Given the description of an element on the screen output the (x, y) to click on. 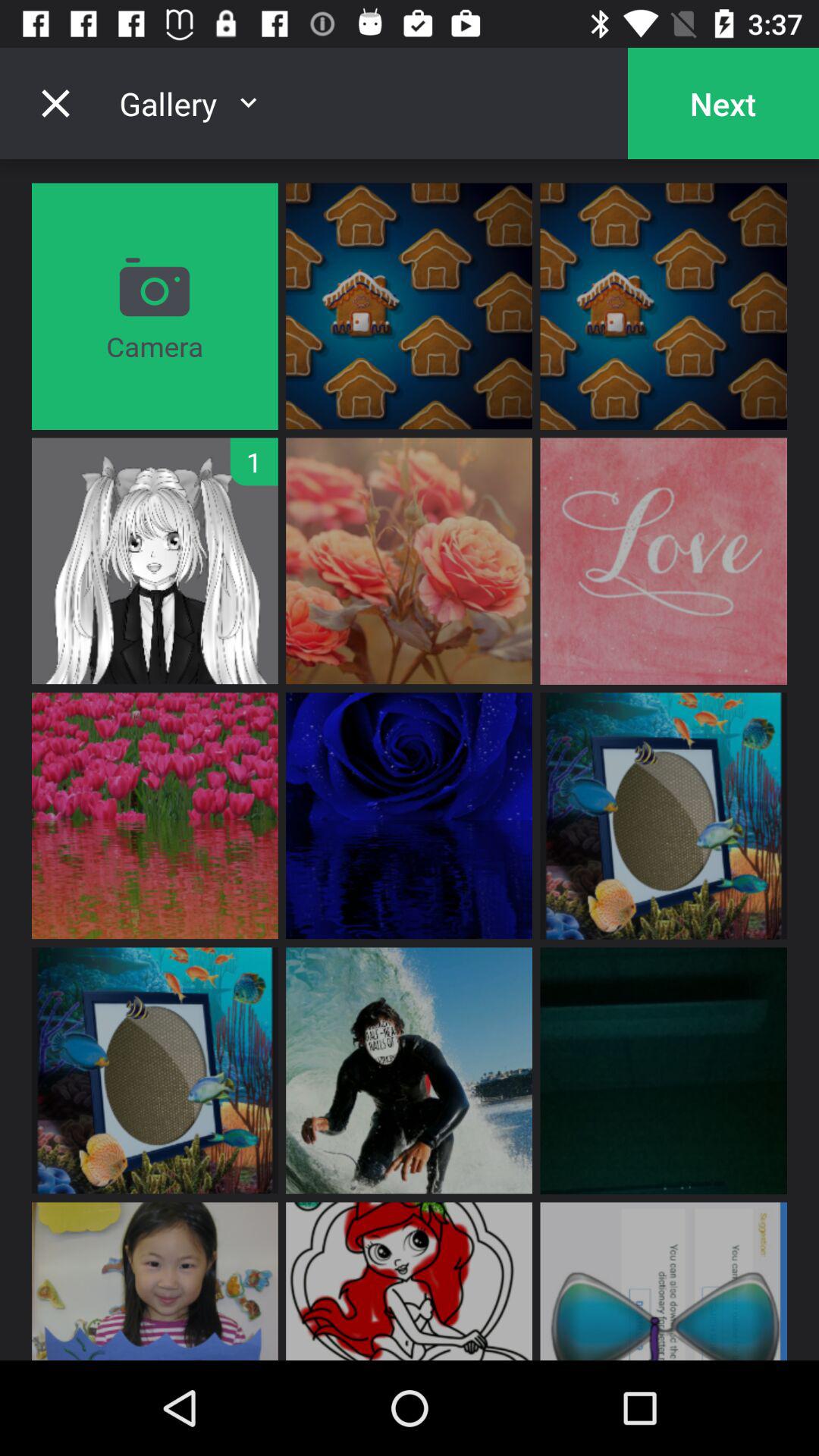
tap item to the left of gallery item (55, 103)
